Given the description of an element on the screen output the (x, y) to click on. 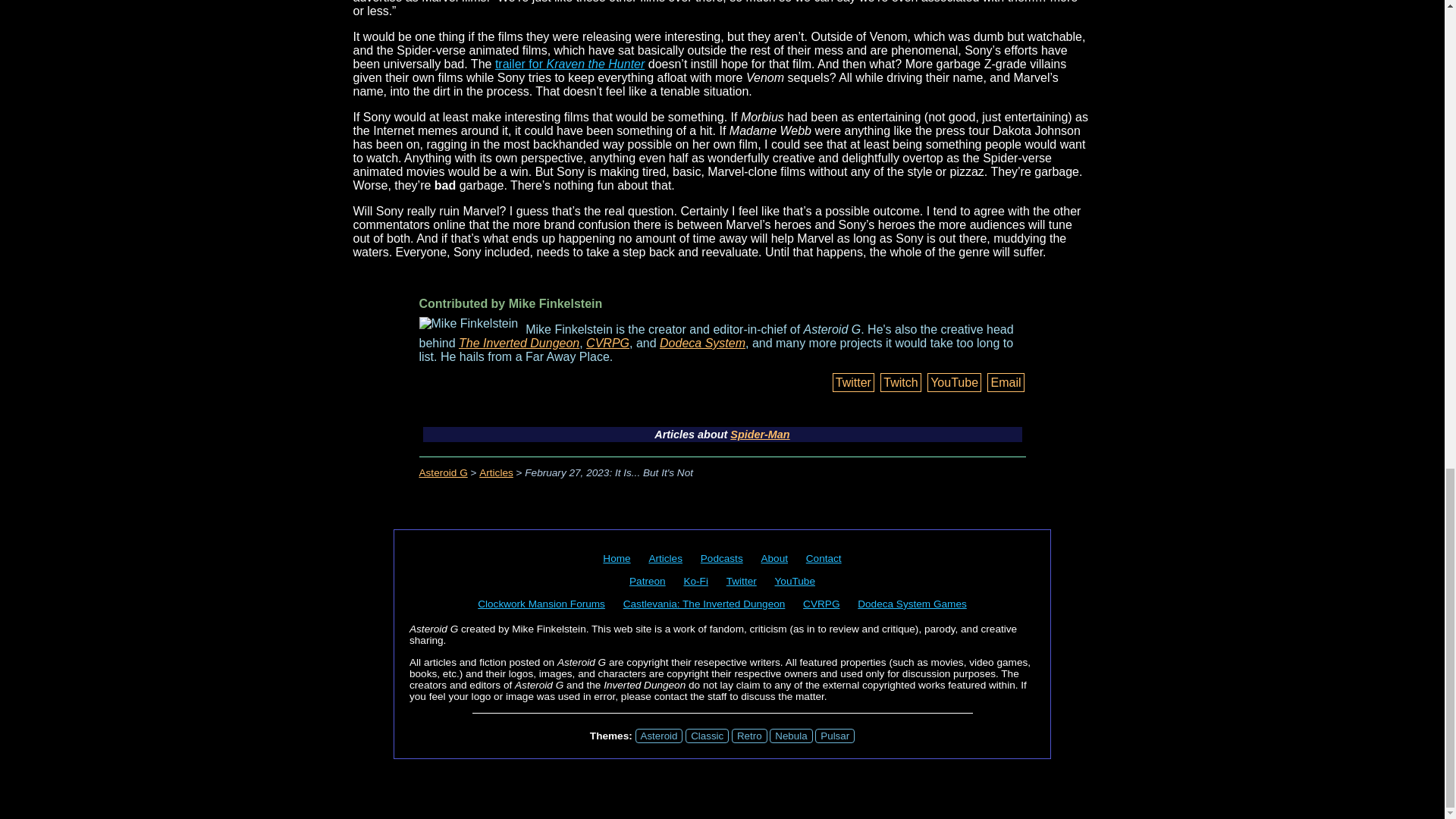
CVRPG (821, 603)
Achive (664, 558)
CVRPG (607, 342)
Donate on KoFi (694, 581)
Twitch (900, 382)
Dodeca System Games (911, 603)
Clockwork Mansion Forums (541, 603)
Email (1005, 382)
Spider-Man (759, 434)
YouTube (954, 382)
trailer for Kraven the Hunter (570, 63)
Dodeca System (702, 342)
Contact (823, 558)
Twitter (853, 382)
The Inverted Dungeon (518, 342)
